Given the description of an element on the screen output the (x, y) to click on. 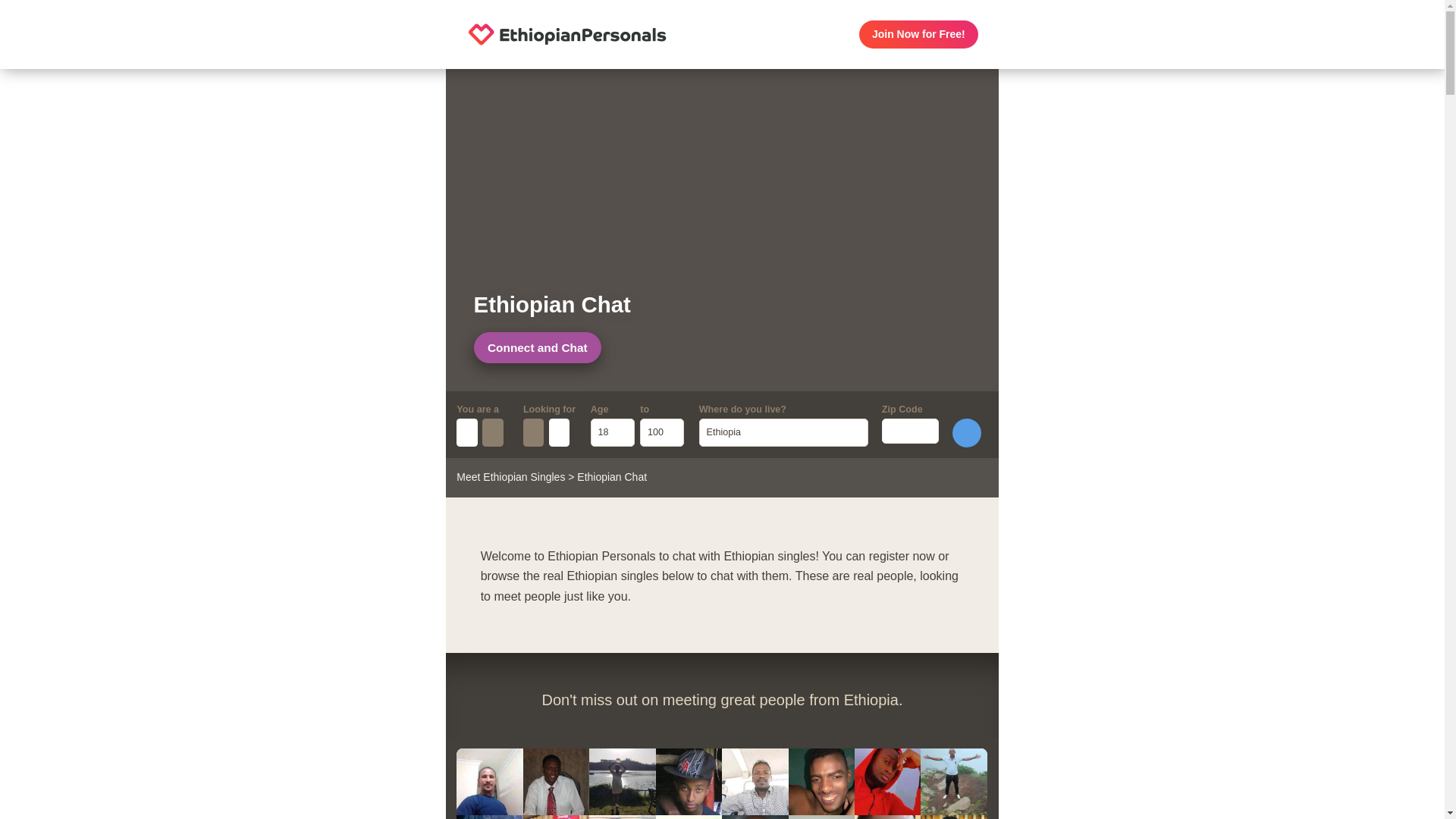
Single Ethiopian man in Chiro, Oromia, Ethiopia (754, 816)
Single Ethiopian man in Jimma, , Ethiopia (821, 816)
Single Ethiopian man in woldia, , Ethiopia (622, 816)
Single Ethiopian man in Addis Ababa, Addis Ababa, Ethiopia (489, 816)
Single Ethiopian man in Addis Ababa, Addis Ababa, Ethiopia (555, 816)
Single Ethiopian man in Bahir dar, , Ethiopia (689, 781)
Single Ethiopian man in Addis Ababa, Ethiopia (555, 781)
Single Ethiopian man in Addis Ababa, Addis Ababa, Ethiopia (953, 816)
Single Ethiopian man in Adama, Oromia, Ethiopia (821, 781)
Single Ethiopian woman in Addis Ababa, Addis Ababa, Ethiopia (622, 781)
